Given the description of an element on the screen output the (x, y) to click on. 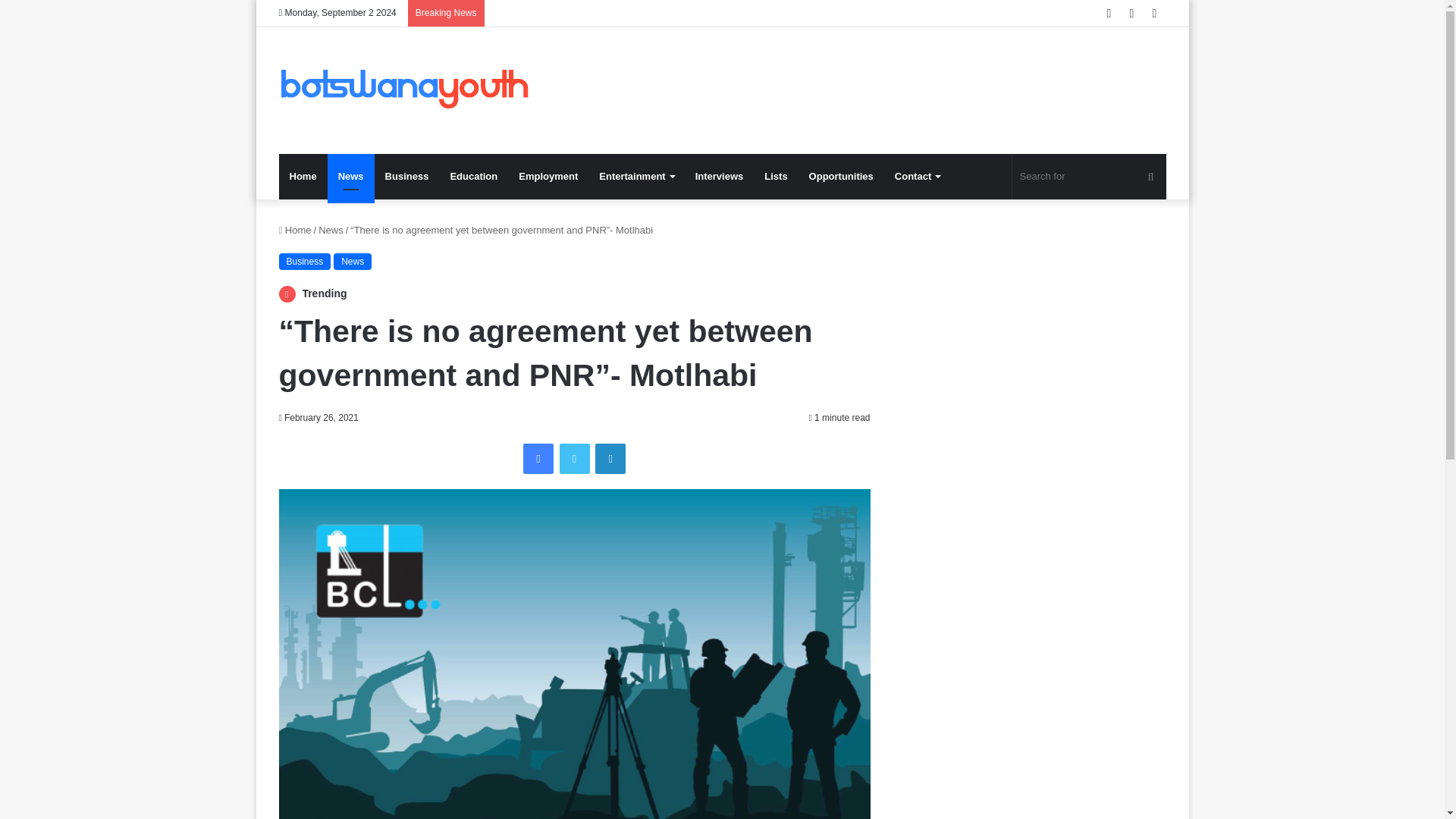
Home (303, 176)
Facebook (537, 458)
Home (295, 229)
Botswana Youth Magazine (404, 90)
Twitter (574, 458)
Contact (916, 176)
News (352, 261)
Interviews (719, 176)
Education (473, 176)
Business (305, 261)
